Given the description of an element on the screen output the (x, y) to click on. 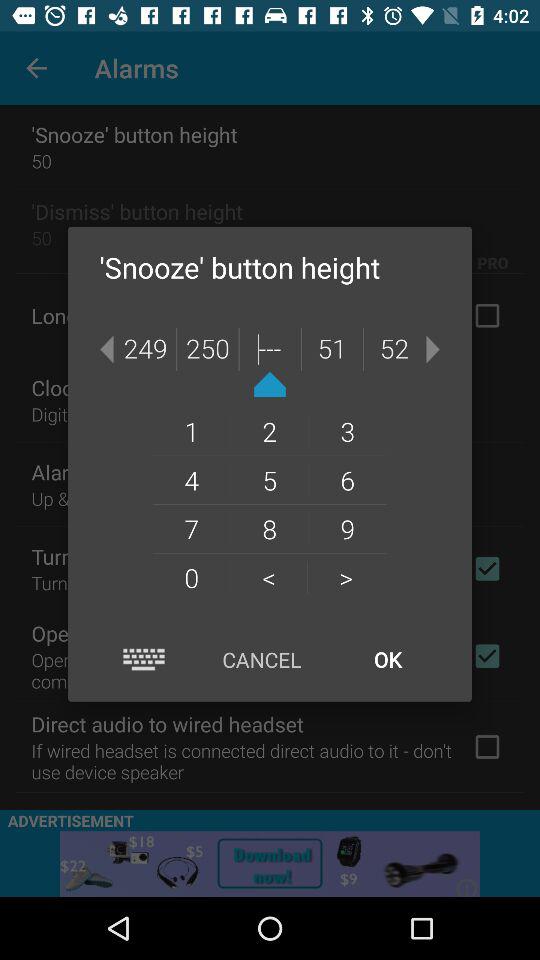
turn off item to the right of 1 (269, 431)
